Given the description of an element on the screen output the (x, y) to click on. 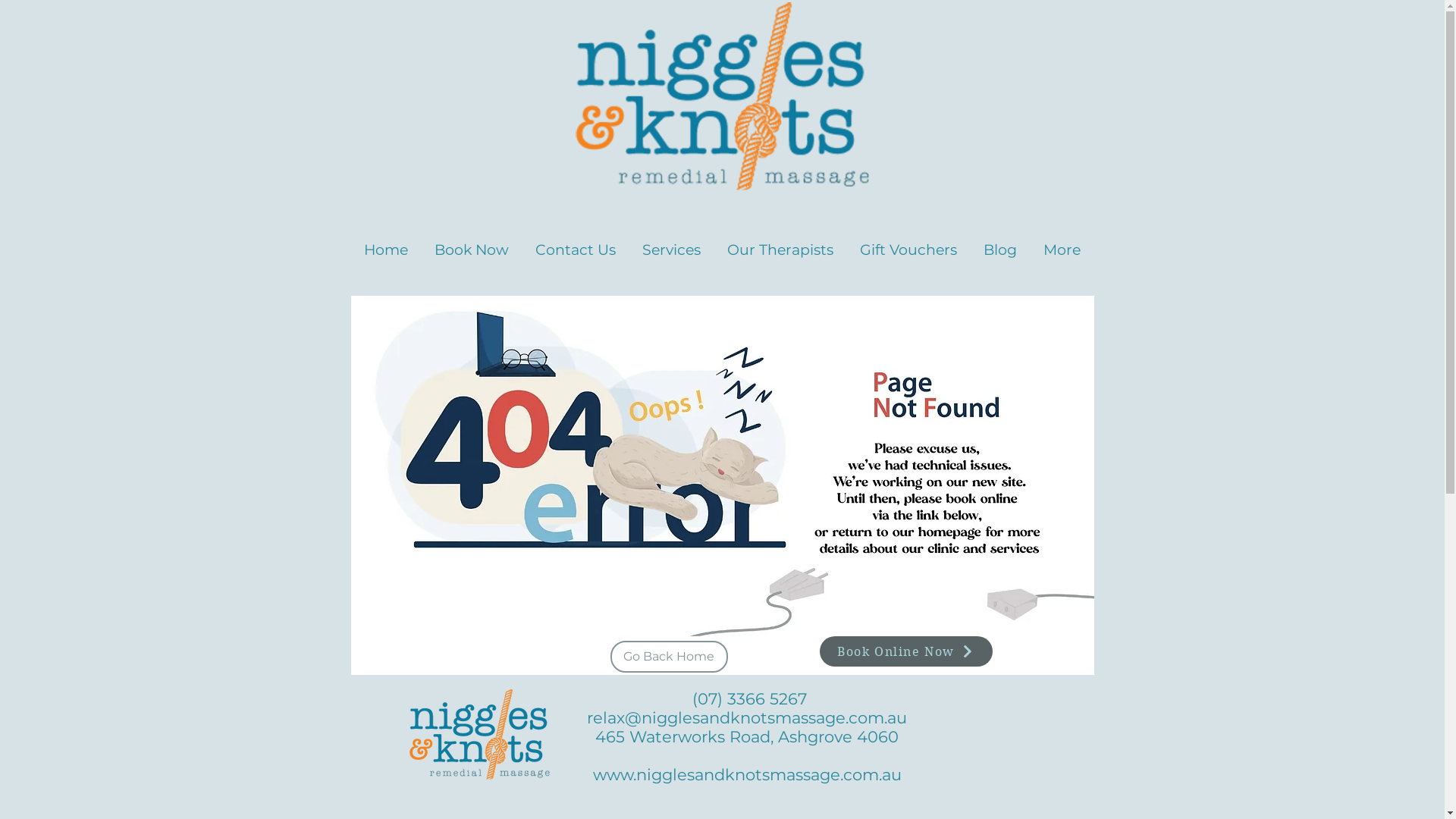
Go Back Home Element type: text (668, 656)
Contact Us Element type: text (574, 242)
Our Therapists Element type: text (780, 242)
Blog Element type: text (1000, 242)
Book Now Element type: text (471, 242)
Gift Vouchers Element type: text (907, 242)
Services Element type: text (671, 242)
Book Online Now Element type: text (905, 651)
relax@nigglesandknotsmassage.com.au Element type: text (746, 717)
Transparent - Logo.png Element type: hover (721, 96)
Home Element type: text (385, 242)
www.nigglesandknotsmassage.com.au Element type: text (747, 774)
